Given the description of an element on the screen output the (x, y) to click on. 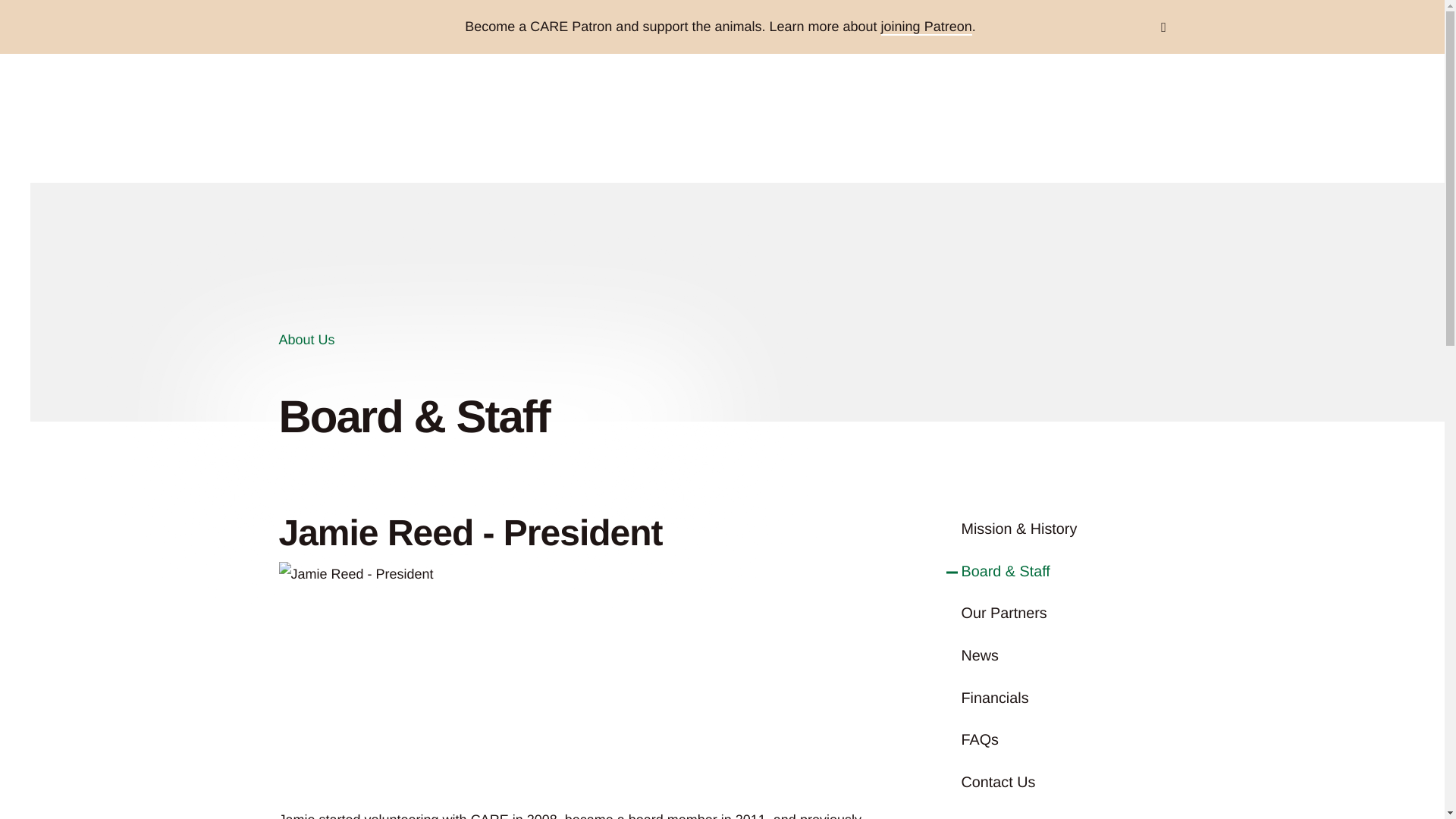
alert close (1162, 26)
joining Patreon (926, 27)
